Given the description of an element on the screen output the (x, y) to click on. 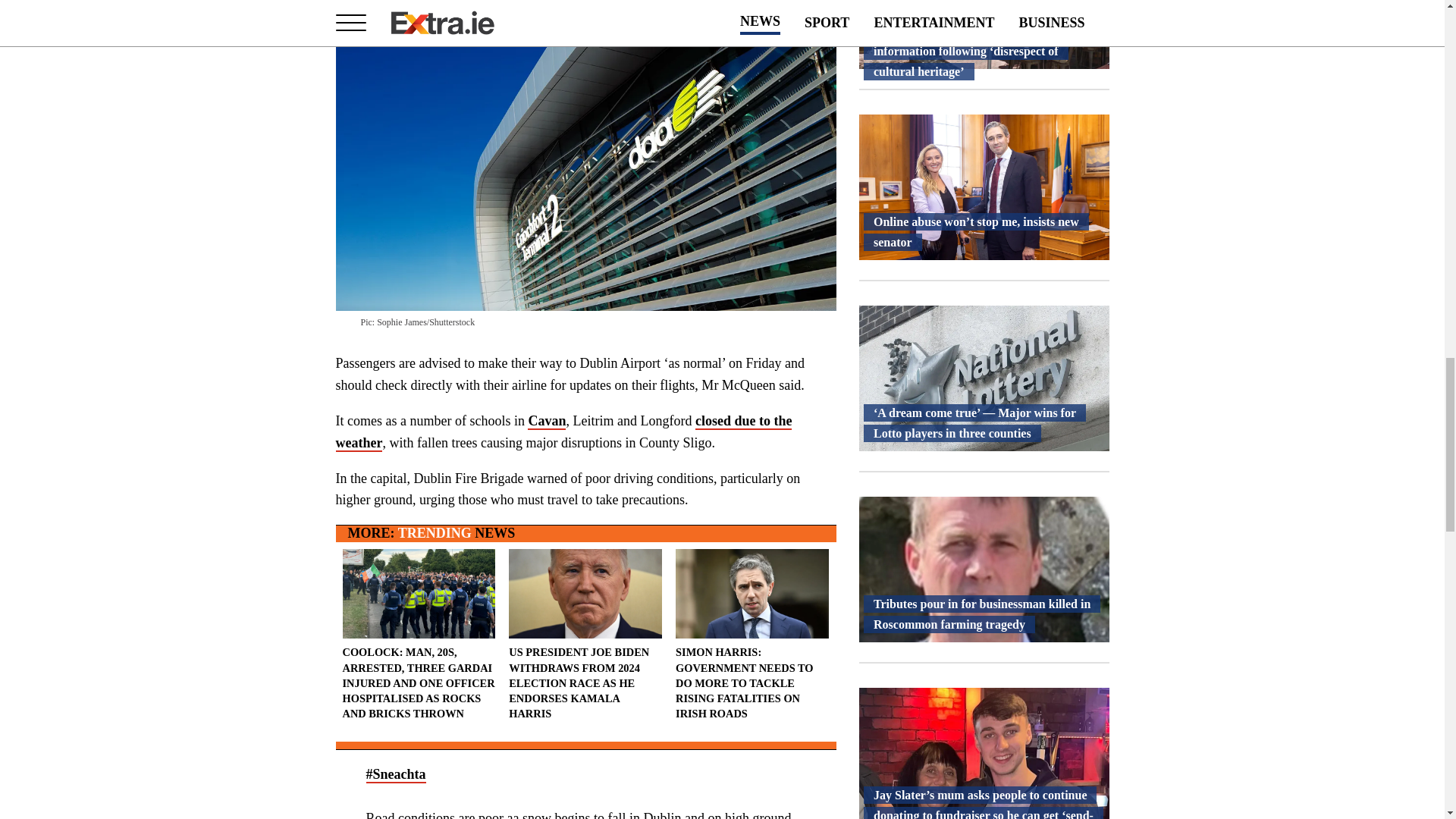
Cavan (546, 421)
closed due to the weather (563, 432)
